Given the description of an element on the screen output the (x, y) to click on. 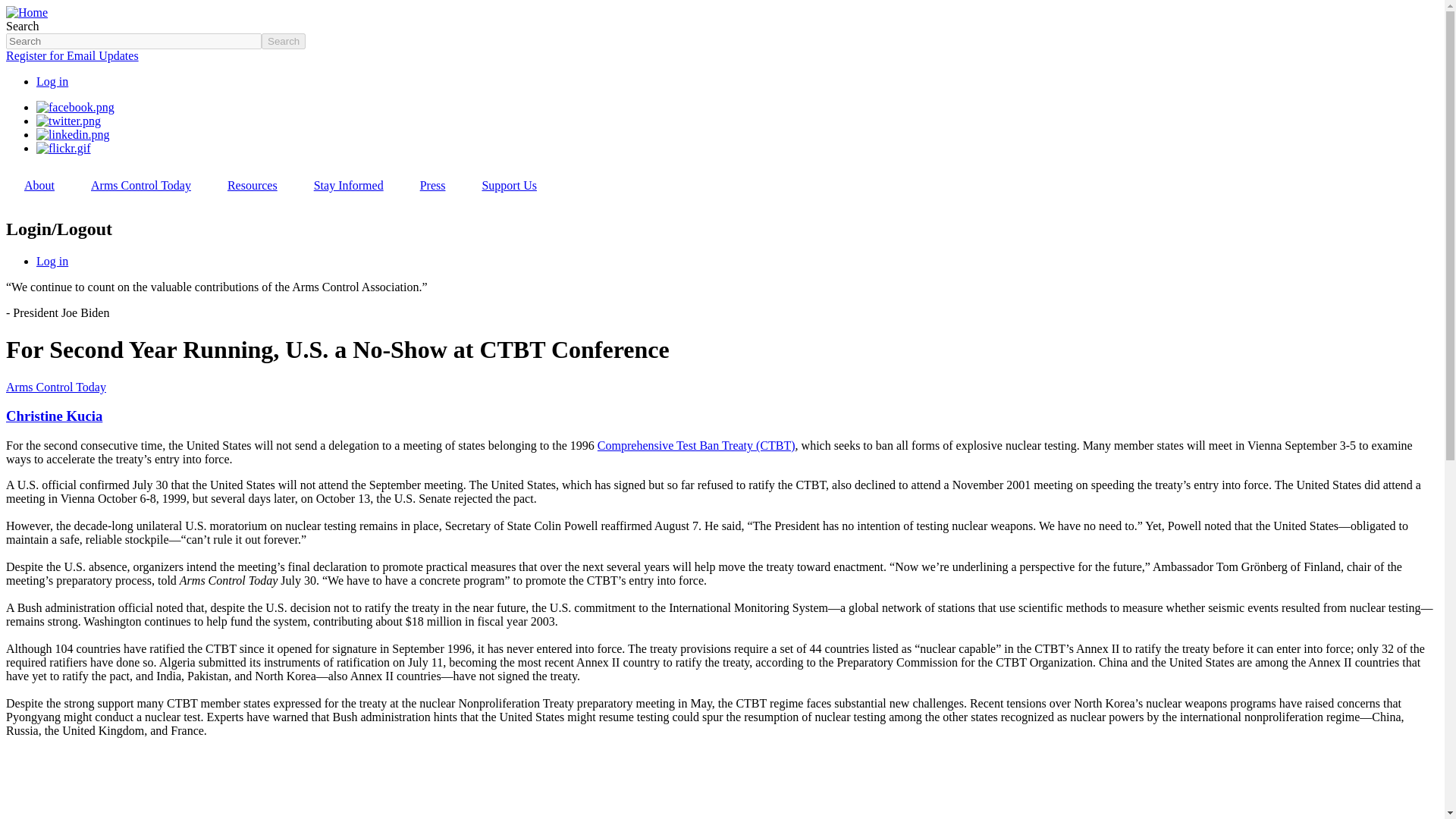
Stay Informed (348, 185)
Log in (52, 81)
Resources (252, 185)
Enter the terms you wish to search for. (133, 41)
Home (26, 11)
About (38, 185)
Search (283, 41)
Arms Control Today (140, 185)
Register for Email Updates (71, 55)
